Given the description of an element on the screen output the (x, y) to click on. 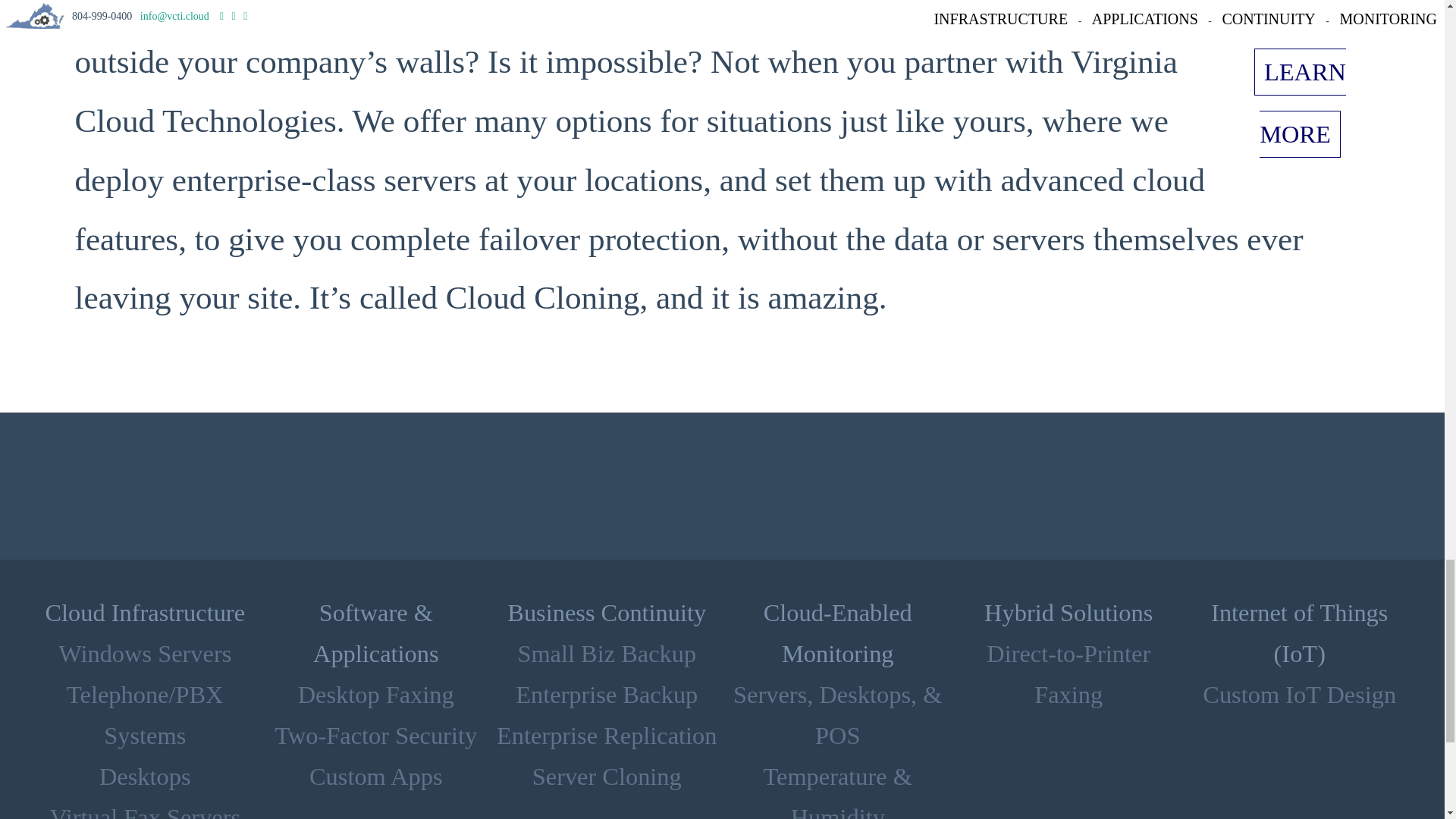
Small Biz Backup (605, 653)
Windows Servers (144, 653)
Direct-to-Printer Faxing (1068, 673)
Enterprise Backup (606, 694)
Enterprise Replication (606, 735)
Virtual Fax Servers (144, 811)
Desktop Faxing (376, 694)
Desktops (144, 776)
Server Cloning (606, 776)
Custom Apps (375, 776)
